Given the description of an element on the screen output the (x, y) to click on. 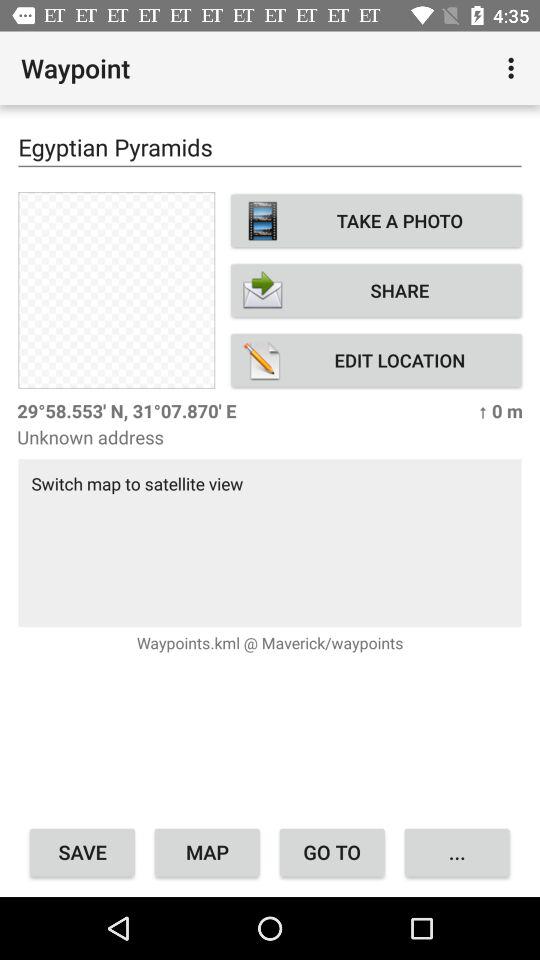
launch item next to take a photo (116, 290)
